Given the description of an element on the screen output the (x, y) to click on. 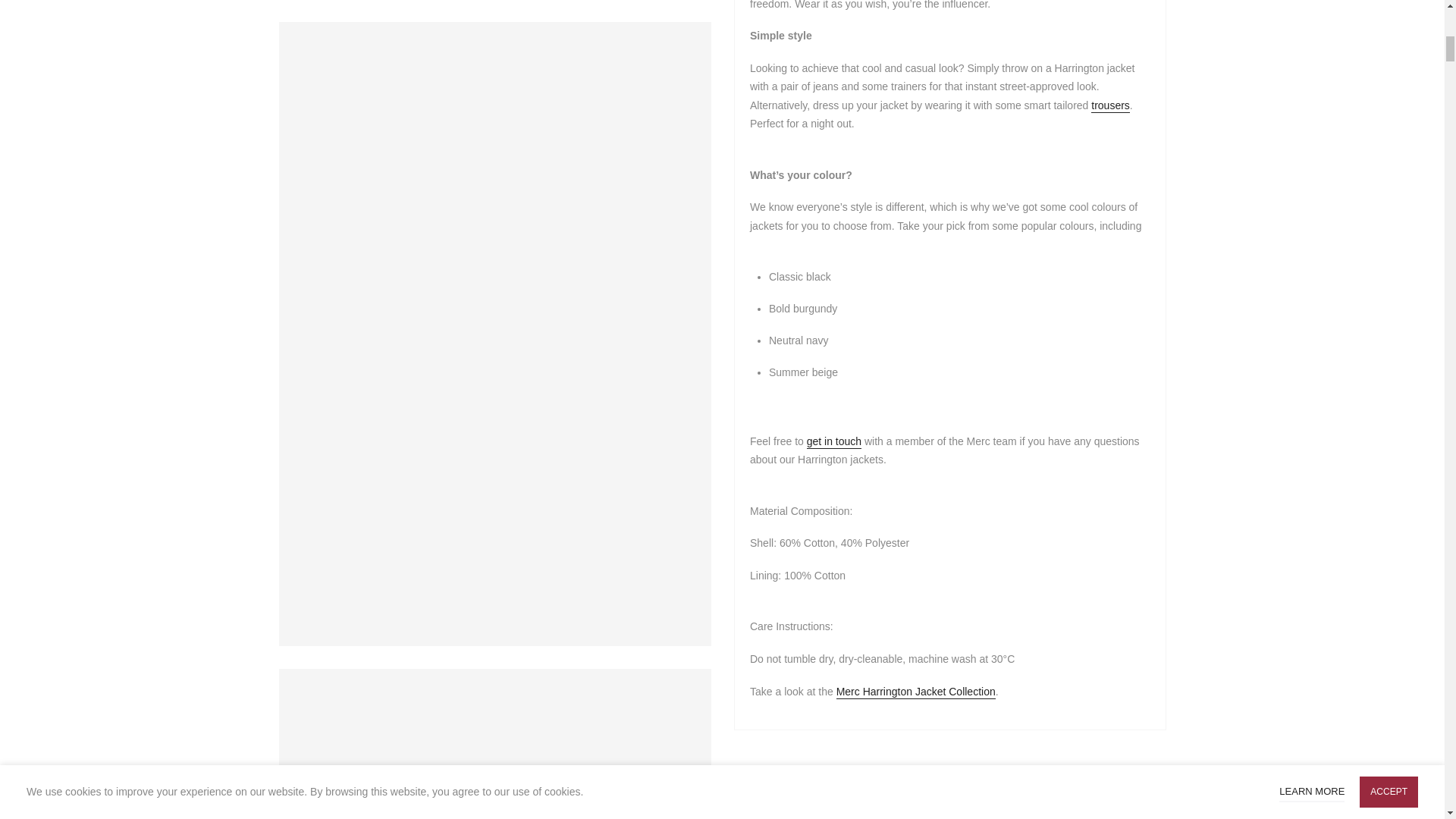
Harrington Jackets (914, 692)
